Given the description of an element on the screen output the (x, y) to click on. 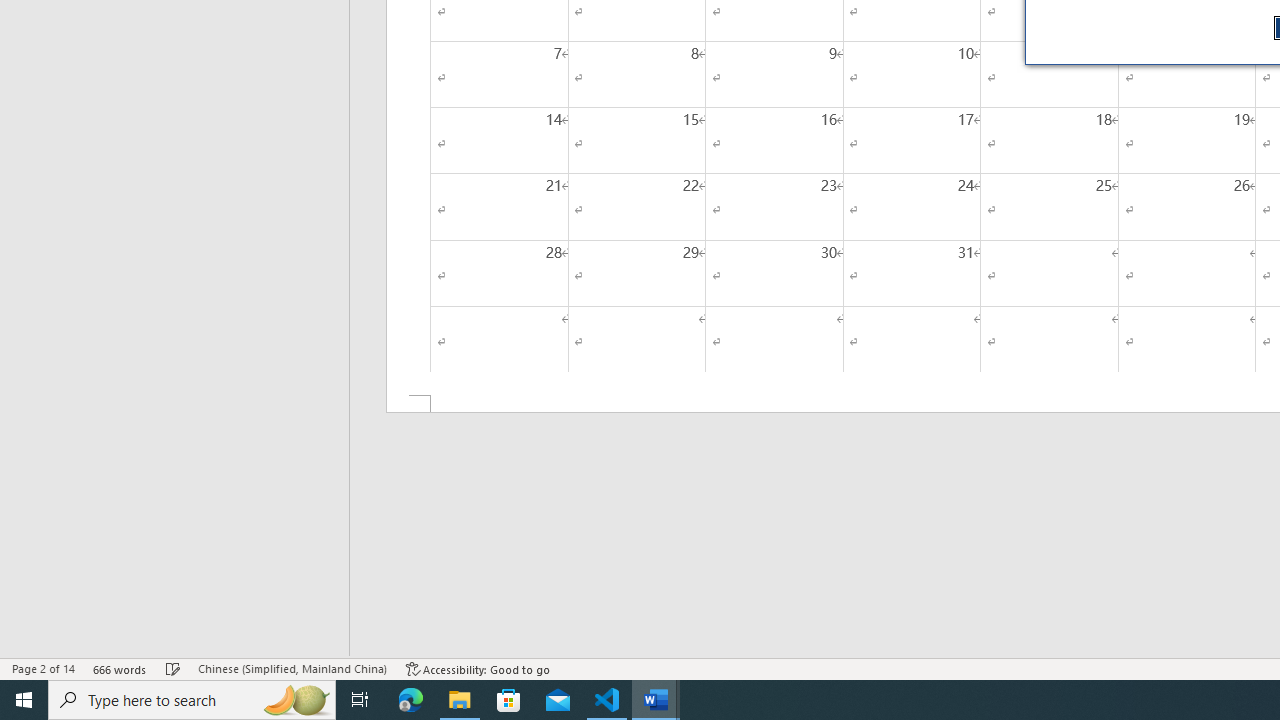
Accessibility Checker Accessibility: Good to go (478, 668)
